Given the description of an element on the screen output the (x, y) to click on. 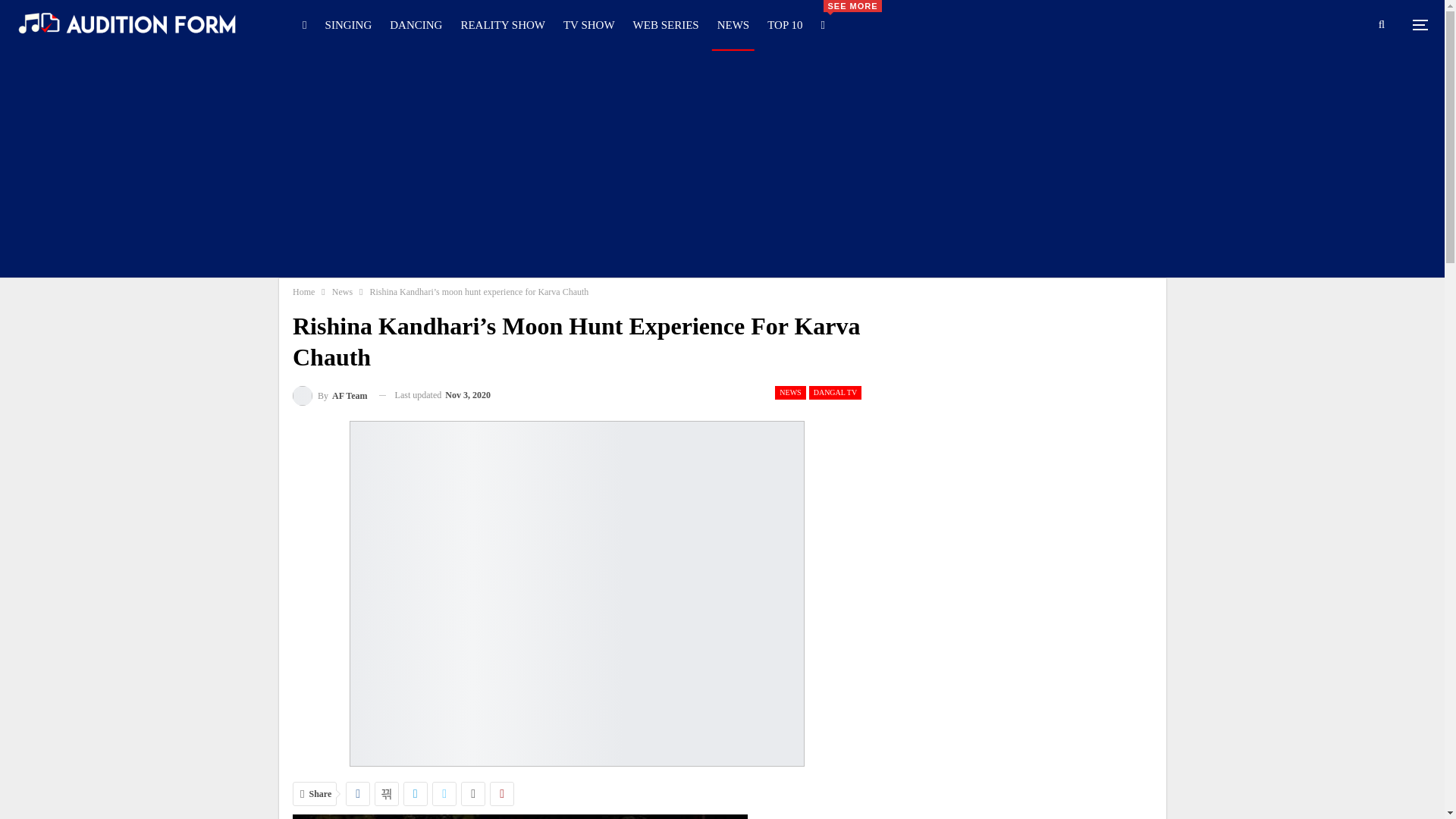
DANCING (415, 24)
WEB SERIES (665, 24)
TOP 10 (784, 24)
Browse Author Articles (330, 394)
REALITY SHOW (502, 24)
Home (303, 291)
SINGING (348, 24)
TV SHOW (588, 24)
NEWS (789, 392)
News (341, 291)
By AF Team (330, 394)
DANGAL TV (835, 392)
